Given the description of an element on the screen output the (x, y) to click on. 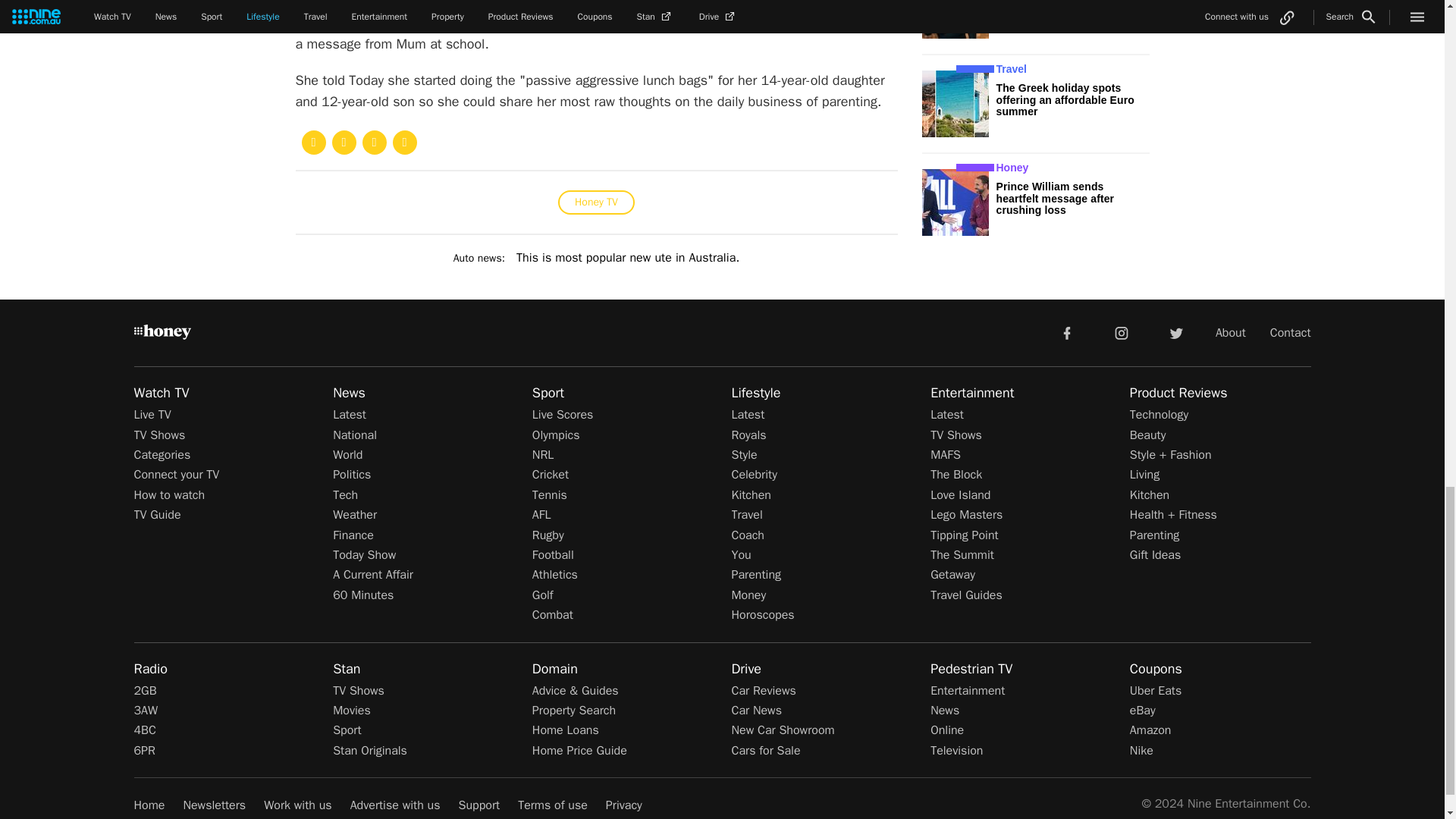
facebook (1066, 331)
Honey TV (595, 202)
instagram (1121, 331)
twitter (1175, 331)
Auto news: This is most popular new ute in Australia. (596, 258)
About (1230, 332)
Contact (1290, 332)
